Given the description of an element on the screen output the (x, y) to click on. 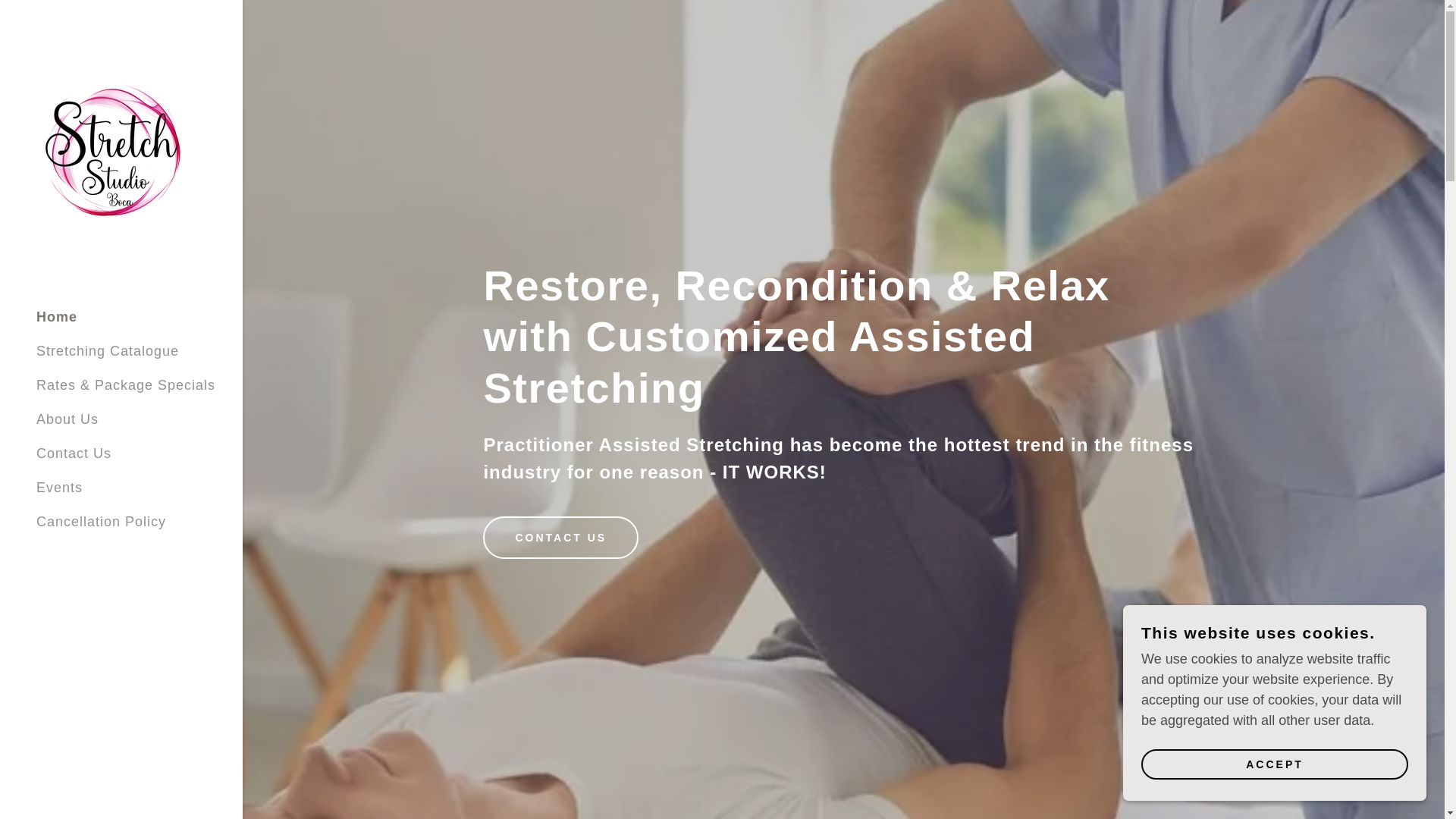
Home (56, 316)
Stretching Catalogue (107, 350)
Events (59, 487)
About Us (67, 418)
Cancellation Policy (100, 521)
Contact Us (74, 453)
Stretch Studio Boca (111, 147)
CONTACT US (561, 537)
